Given the description of an element on the screen output the (x, y) to click on. 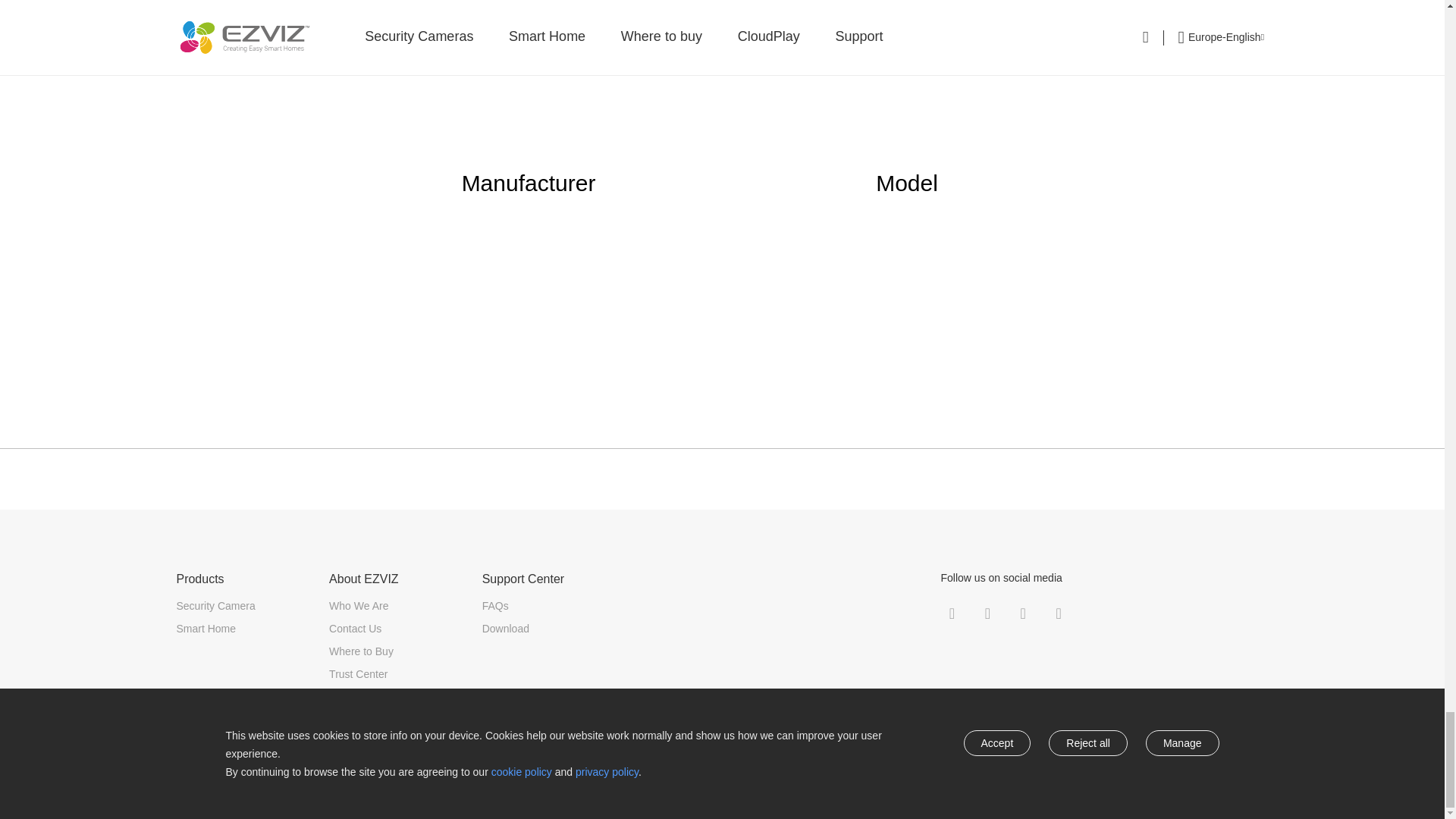
Who We Are (358, 605)
Smart Home (205, 628)
Contact Us (355, 628)
Security Camera (215, 605)
